Given the description of an element on the screen output the (x, y) to click on. 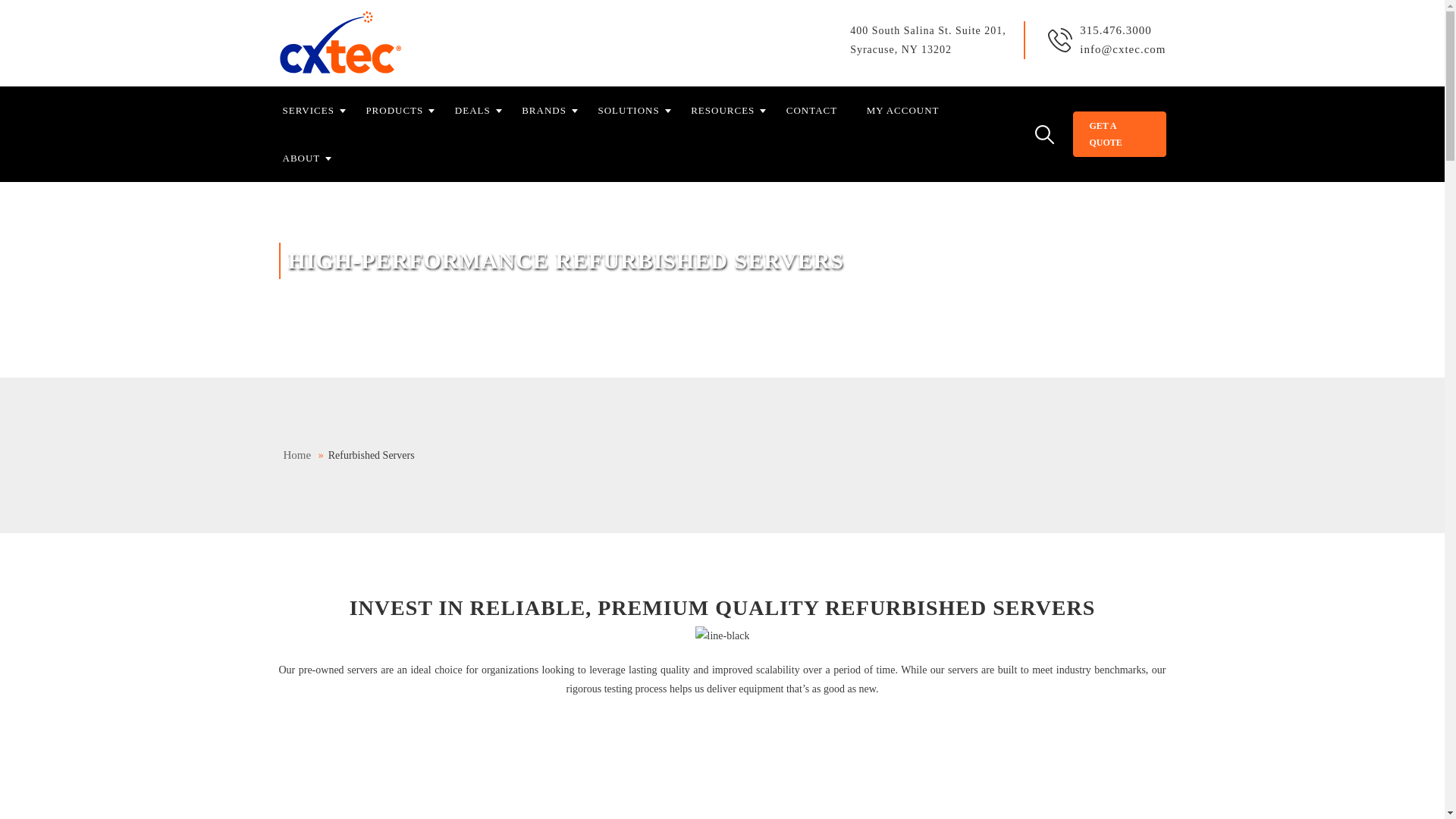
SERVICES (317, 110)
DEALS (482, 110)
PRODUCTS (403, 110)
315.476.3000 (1115, 30)
Cxtec Logo (341, 43)
BRANDS (553, 110)
